Given the description of an element on the screen output the (x, y) to click on. 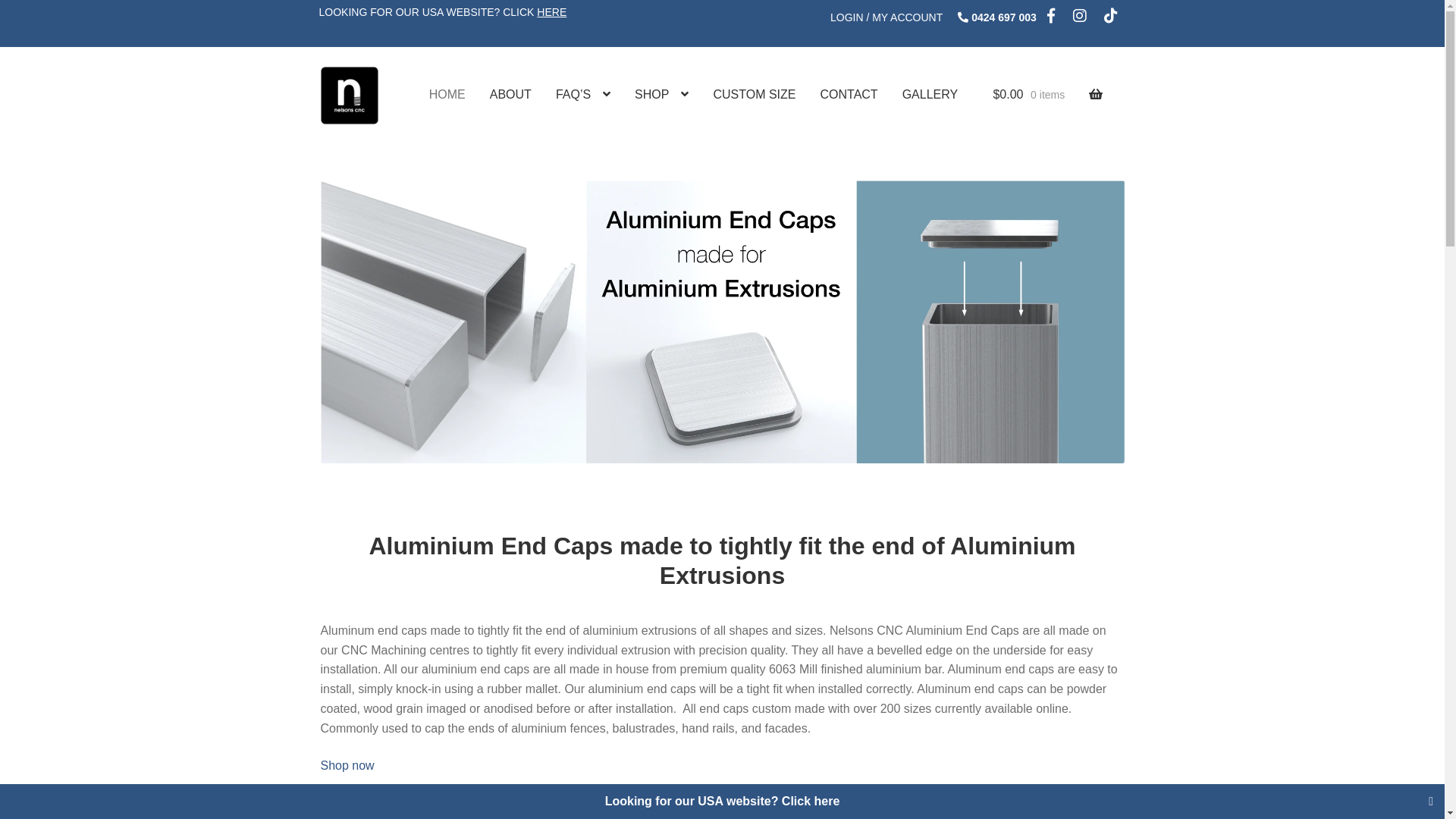
CUSTOM SIZE Element type: text (753, 94)
LOGIN / MY ACCOUNT Element type: text (886, 17)
here Element type: text (827, 800)
0424 697 003 Element type: text (1003, 17)
HOME Element type: text (447, 94)
HomePageTrio4 Element type: hover (721, 321)
GALLERY Element type: text (930, 94)
CONTACT Element type: text (849, 94)
Shop now Element type: text (346, 765)
SHOP Element type: text (661, 94)
$0.00 0 items Element type: text (1047, 94)
ABOUT Element type: text (510, 94)
HERE Element type: text (551, 12)
